Given the description of an element on the screen output the (x, y) to click on. 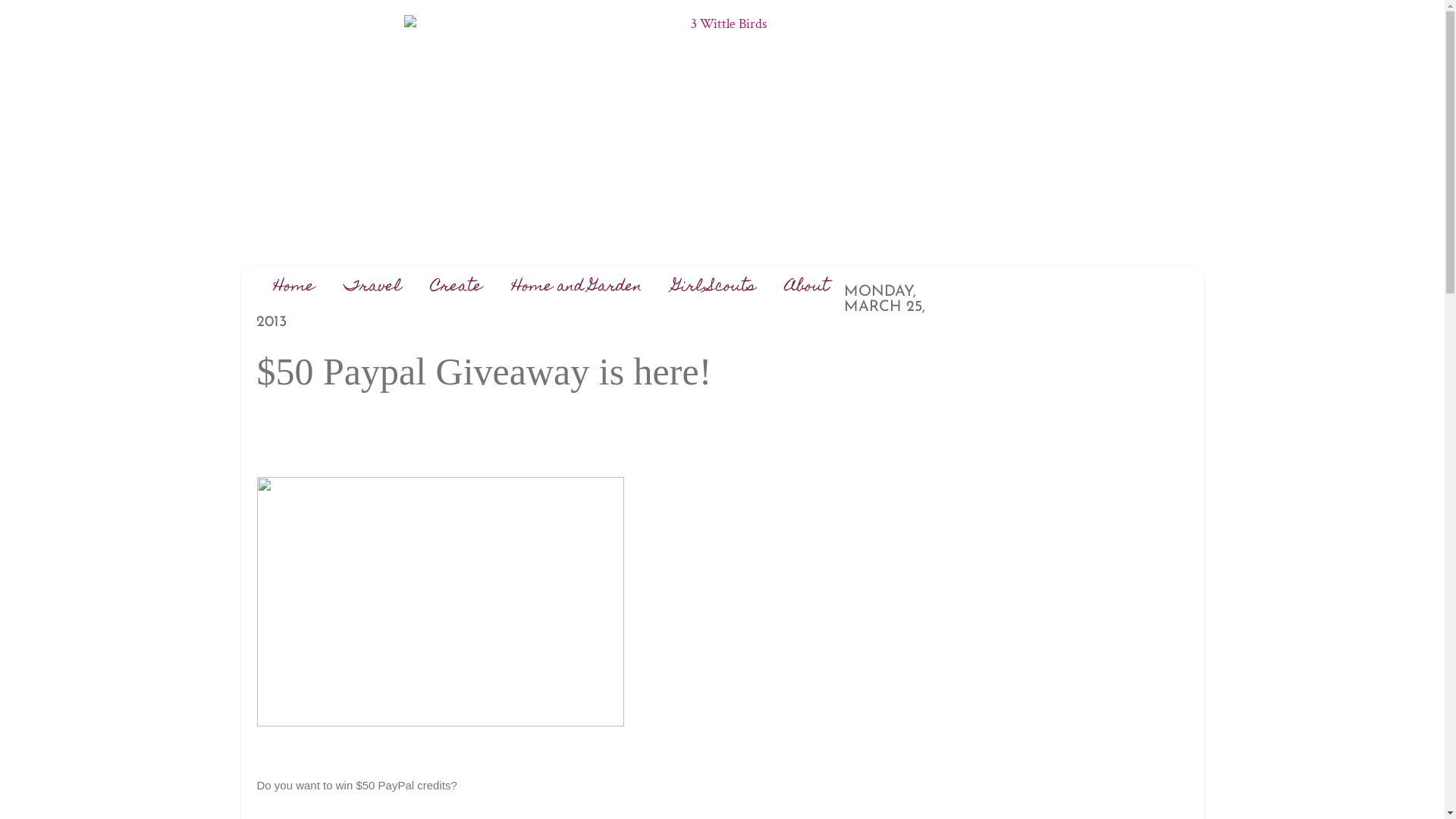
Travel Element type: text (372, 287)
Girl Scouts Element type: text (713, 287)
Home and Garden Element type: text (577, 287)
About Element type: text (807, 287)
Create Element type: text (456, 287)
Home Element type: text (292, 287)
